Given the description of an element on the screen output the (x, y) to click on. 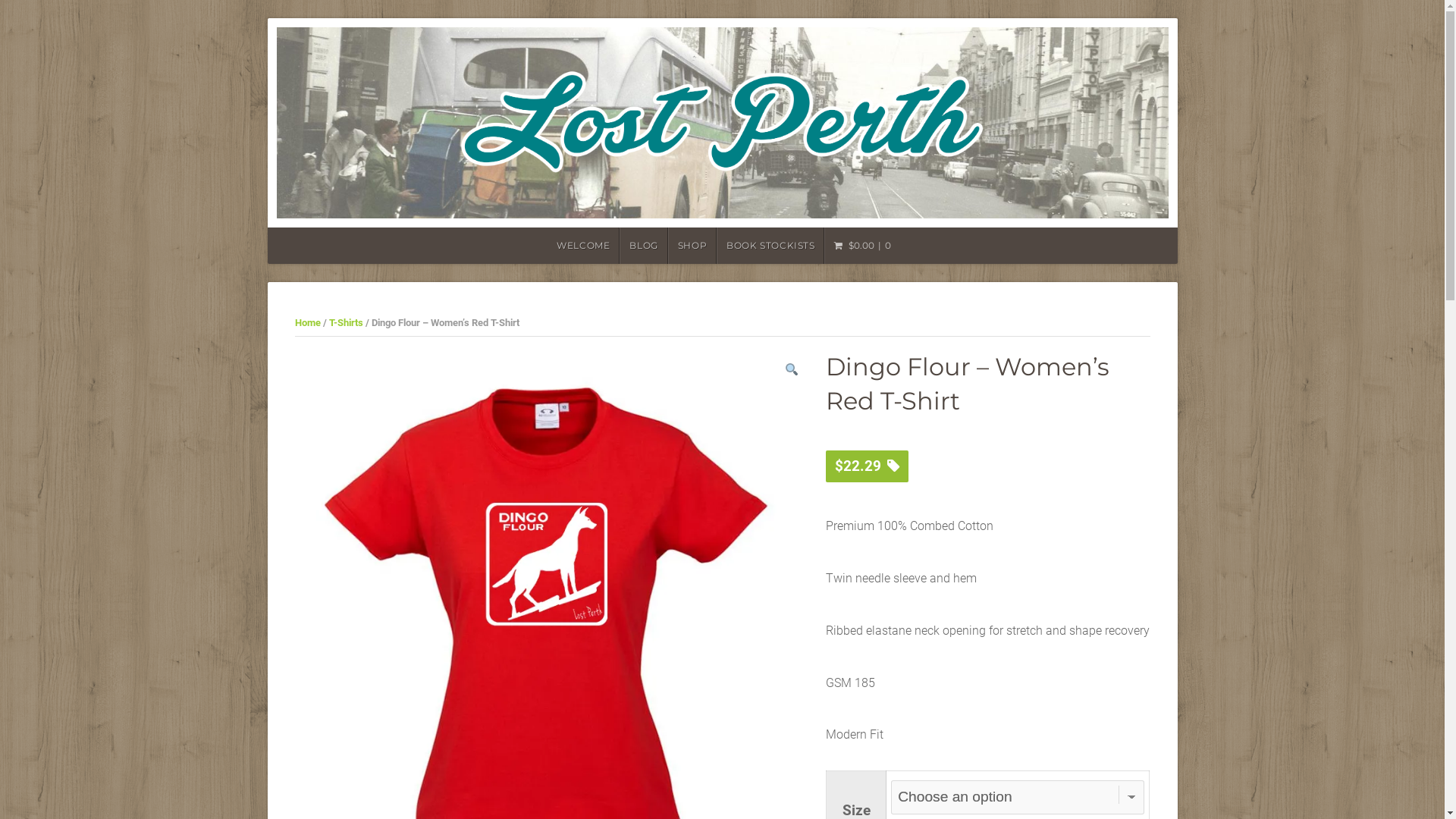
BLOG Element type: text (643, 245)
$0.00 0 Element type: text (862, 245)
SHOP Element type: text (692, 245)
T-Shirts Element type: text (346, 322)
Home Element type: text (307, 322)
BOOK STOCKISTS Element type: text (769, 245)
WELCOME Element type: text (581, 245)
